Given the description of an element on the screen output the (x, y) to click on. 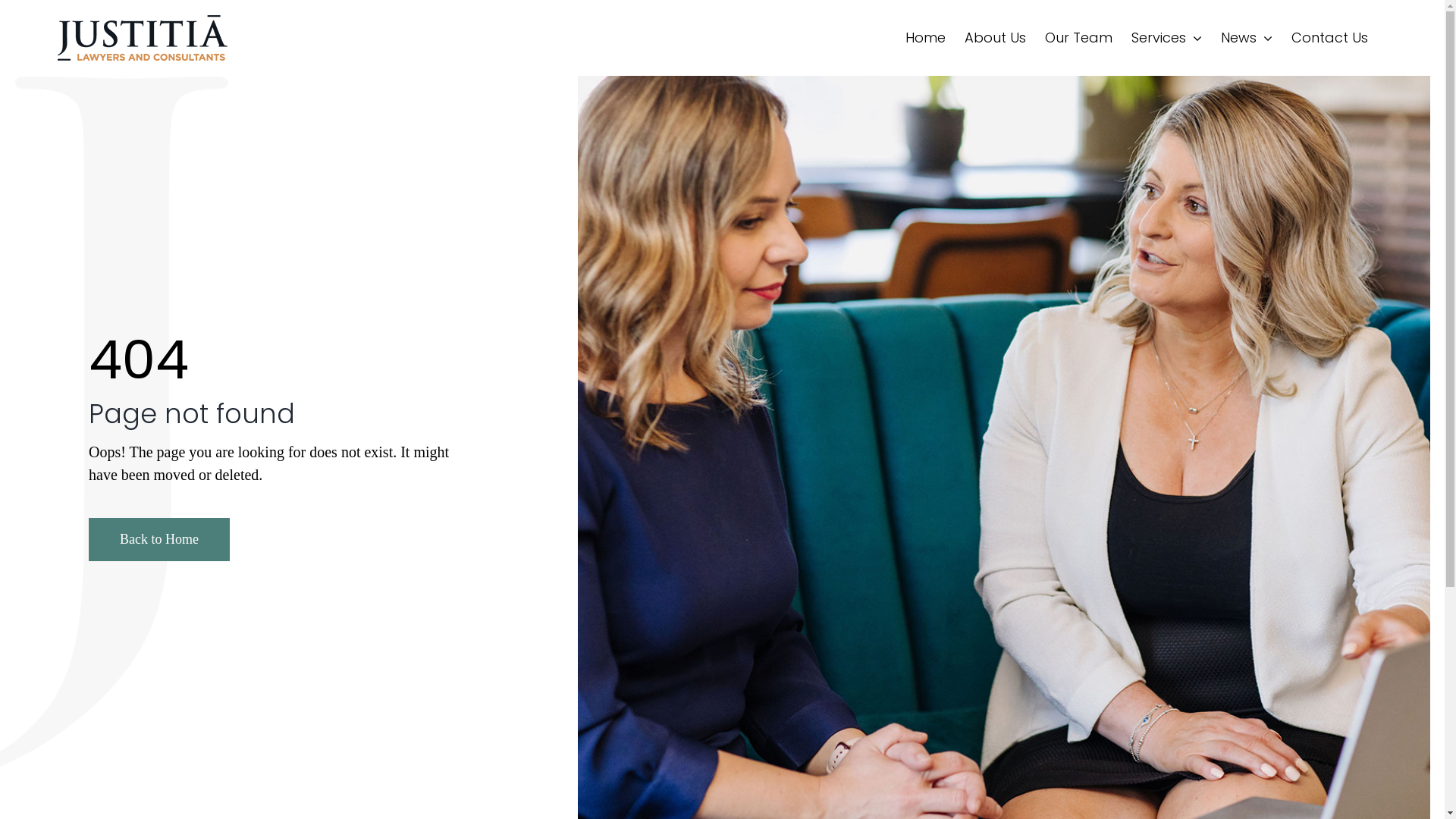
About Us Element type: text (995, 37)
Our Team Element type: text (1078, 37)
Back to Home Element type: text (158, 539)
News Element type: text (1246, 37)
Home Element type: text (925, 37)
Services Element type: text (1166, 37)
Contact Us Element type: text (1329, 37)
